Given the description of an element on the screen output the (x, y) to click on. 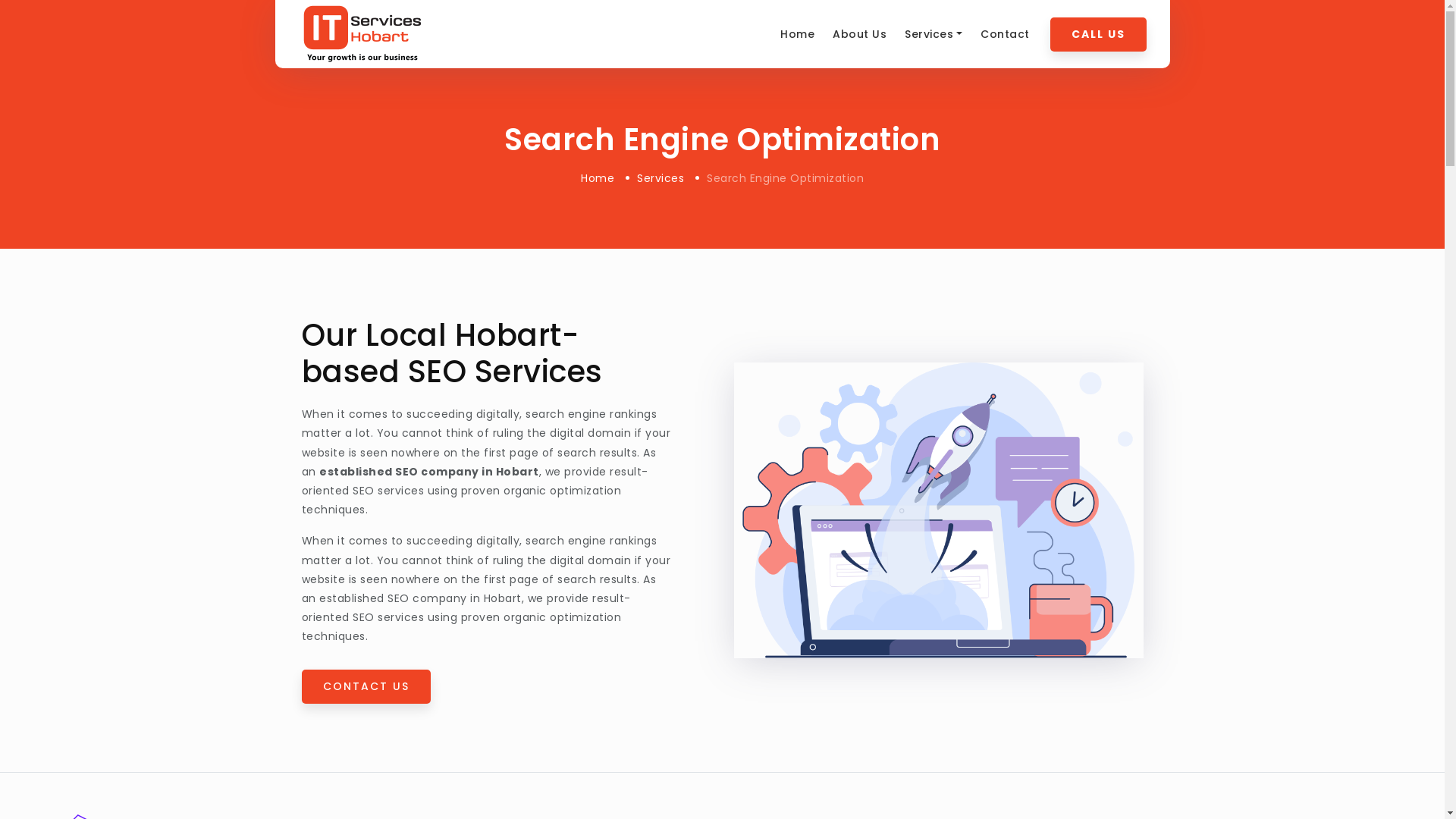
About Us Element type: text (859, 33)
IT Service Element type: hover (425, 34)
Business Email & Hosting Element type: text (971, 85)
Contact Element type: text (1004, 33)
CONTACT US Element type: text (365, 686)
Web Development Element type: text (971, 75)
Home Element type: text (597, 177)
Home Element type: text (797, 33)
Services Element type: text (660, 177)
Services Element type: text (933, 33)
CALL US Element type: text (1097, 33)
